Given the description of an element on the screen output the (x, y) to click on. 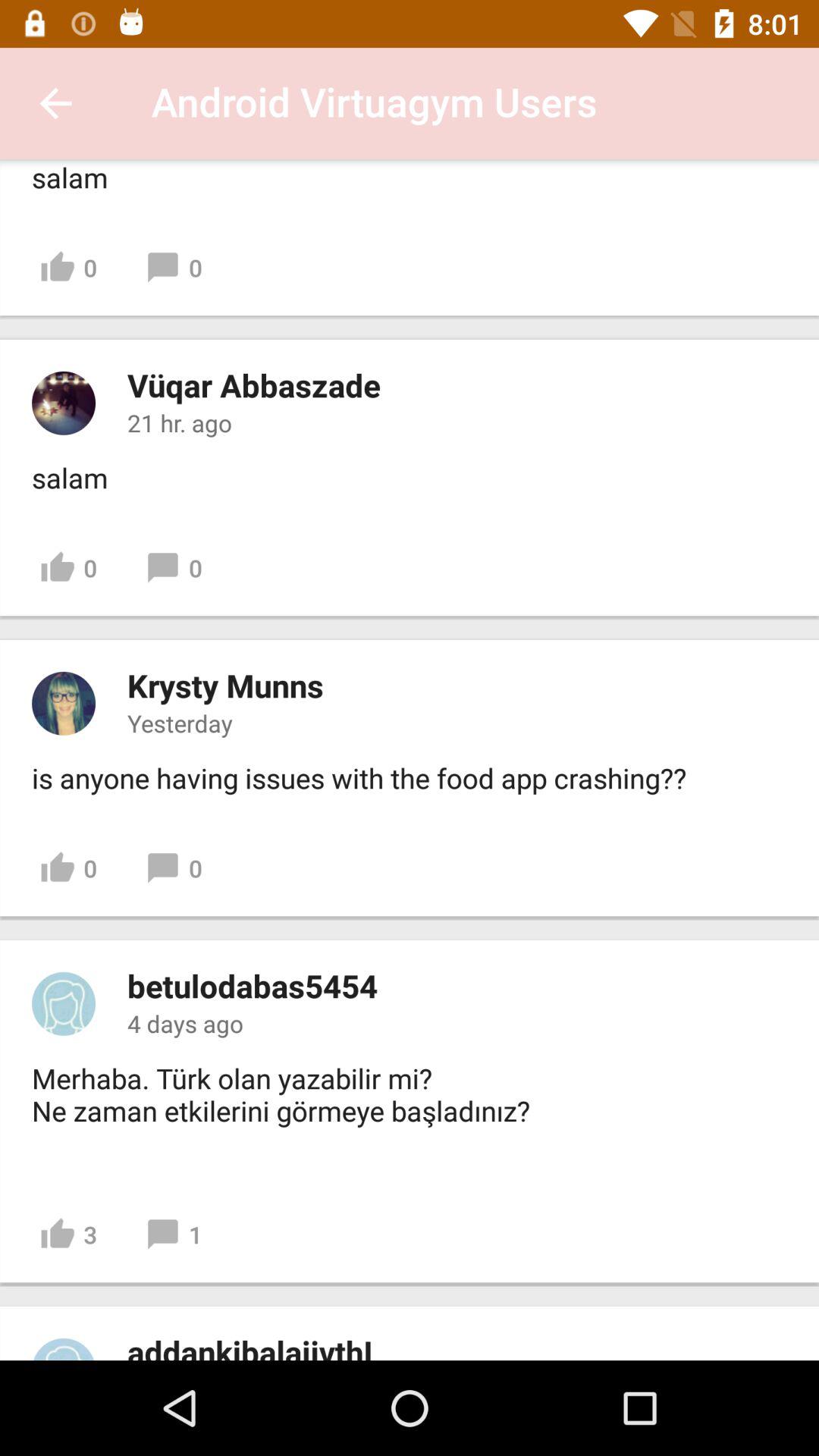
click the item below 0 icon (225, 684)
